Given the description of an element on the screen output the (x, y) to click on. 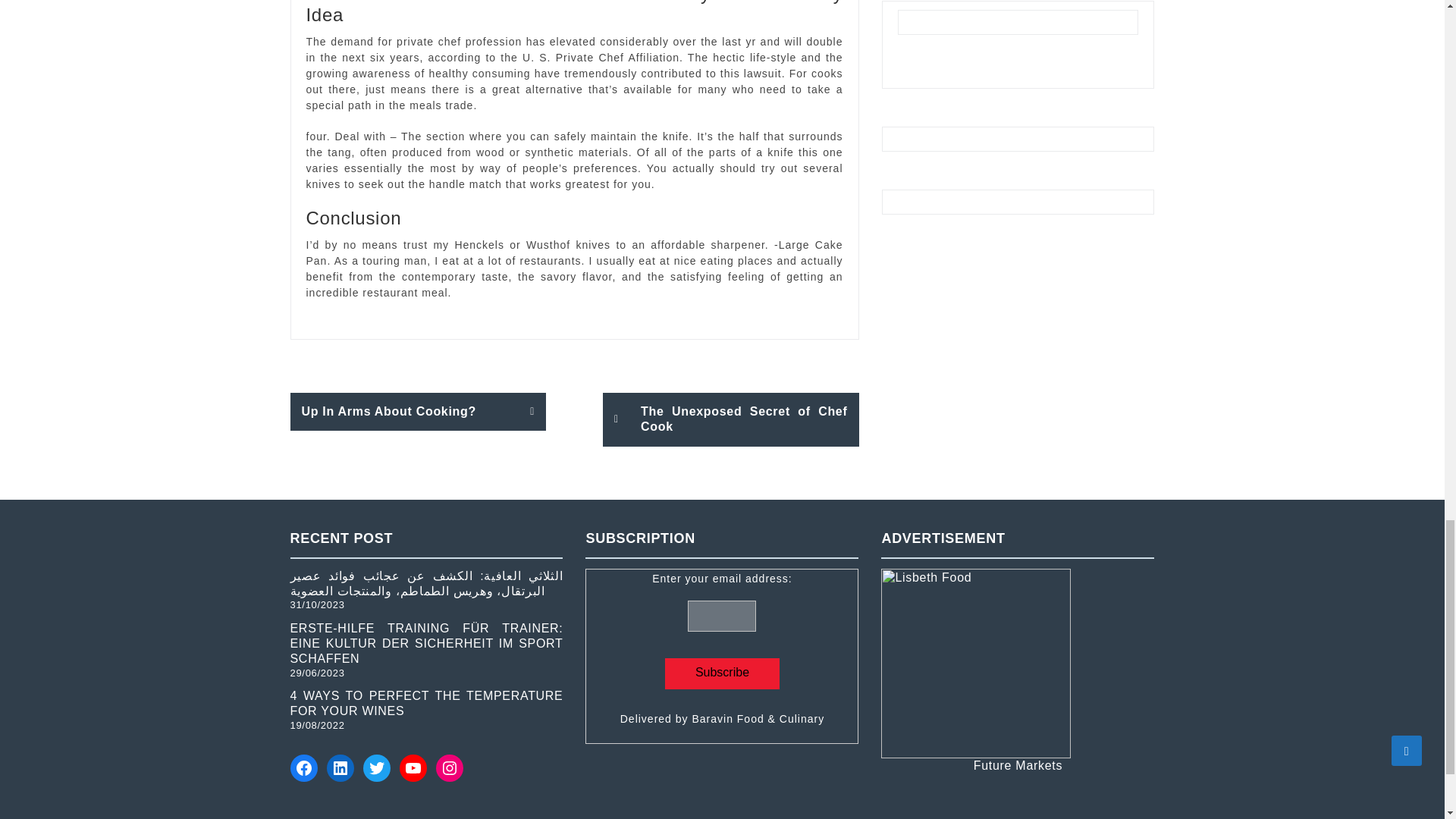
Subscribe (721, 673)
Lisbeth Food (975, 663)
The Unexposed Secret of Chef Cook (730, 419)
Up In Arms About Cooking? (417, 411)
